Given the description of an element on the screen output the (x, y) to click on. 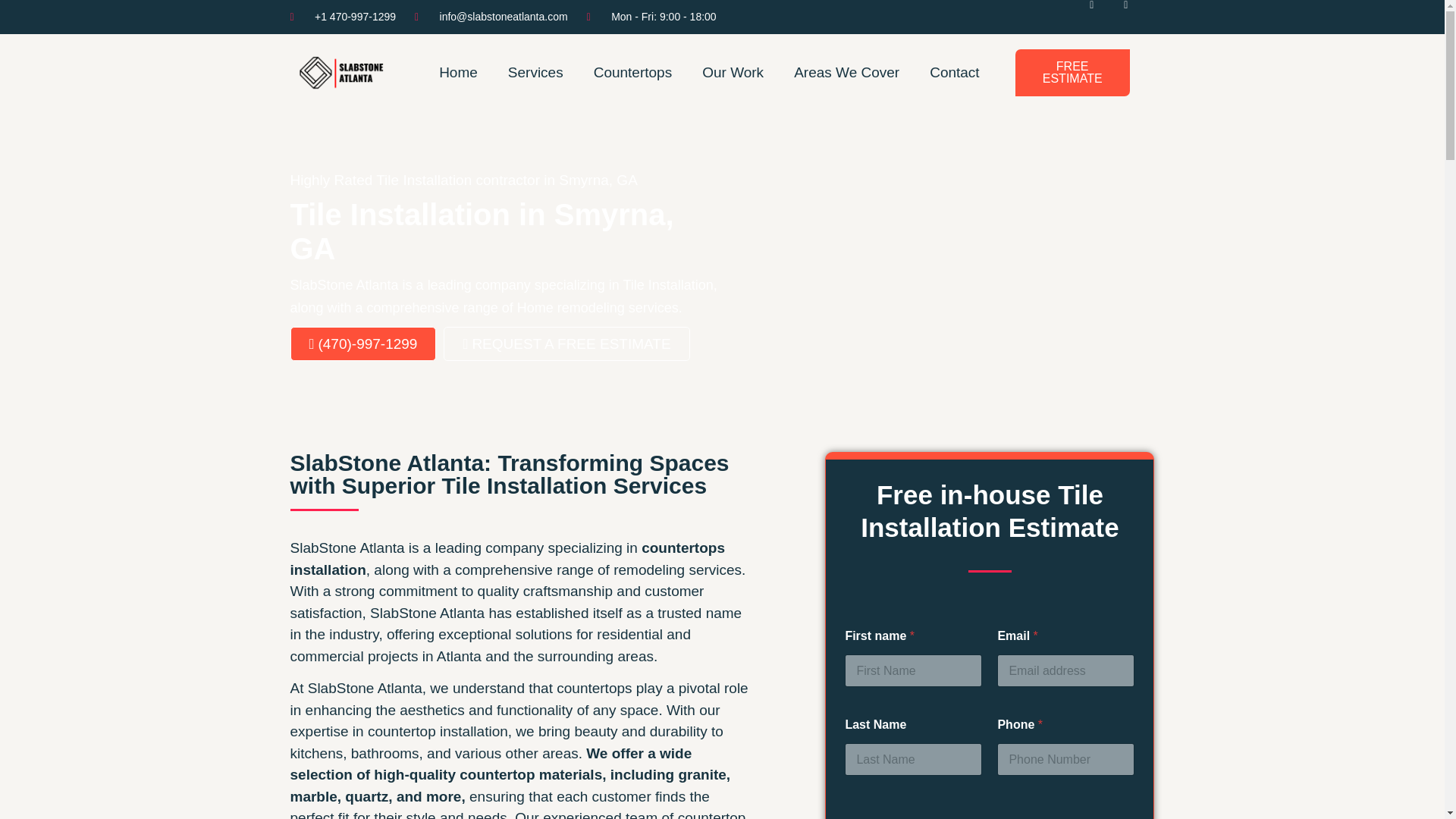
Services (535, 72)
Areas We Cover (846, 72)
Contact (954, 72)
Home (458, 72)
Countertops (632, 72)
Our Work (732, 72)
